Given the description of an element on the screen output the (x, y) to click on. 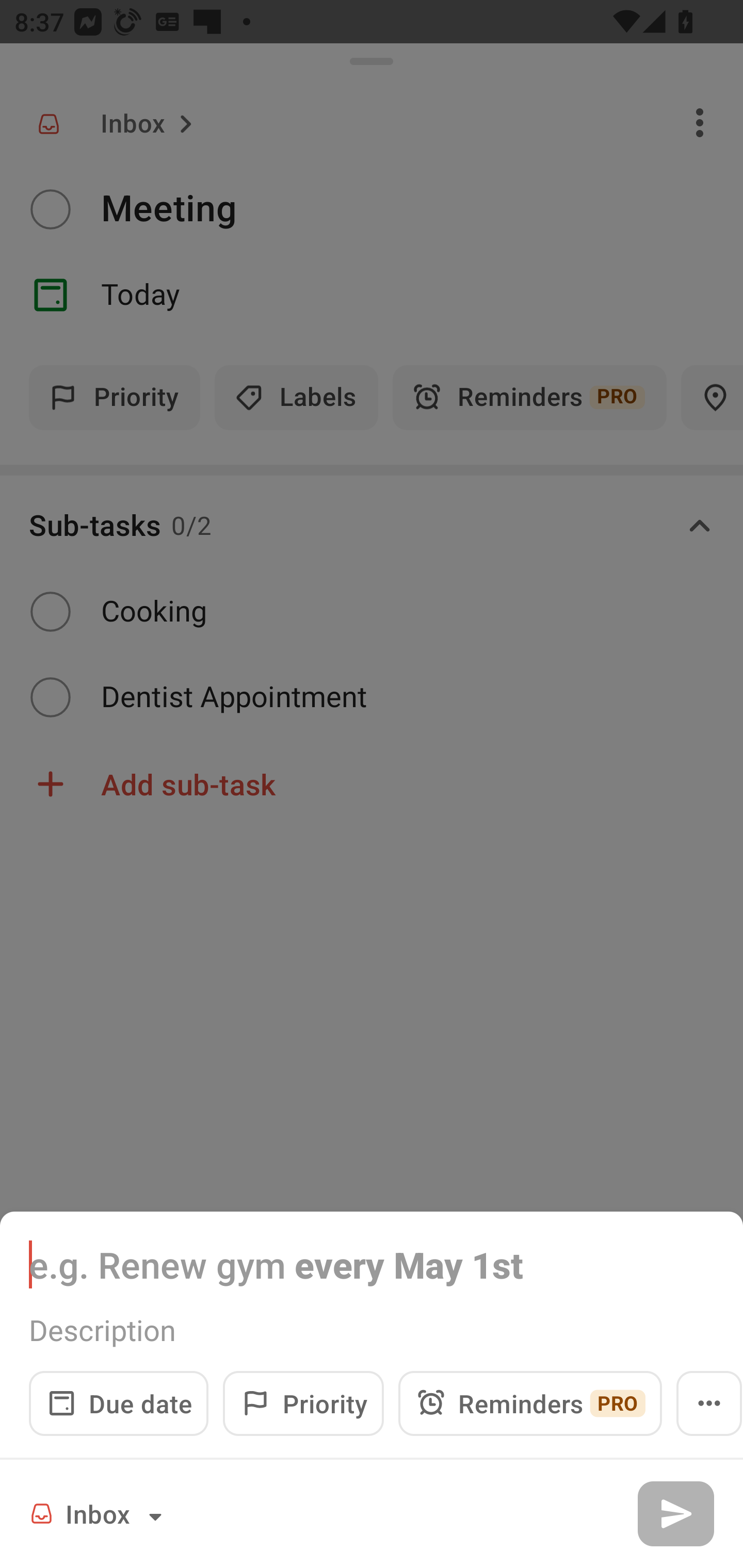
e.g. Renew gym every May 1st (371, 1264)
Description (371, 1330)
Due date Date (118, 1403)
Priority (303, 1403)
Reminders PRO Reminders (530, 1403)
Open menu (709, 1403)
Inbox Project (99, 1513)
Add (675, 1513)
